Given the description of an element on the screen output the (x, y) to click on. 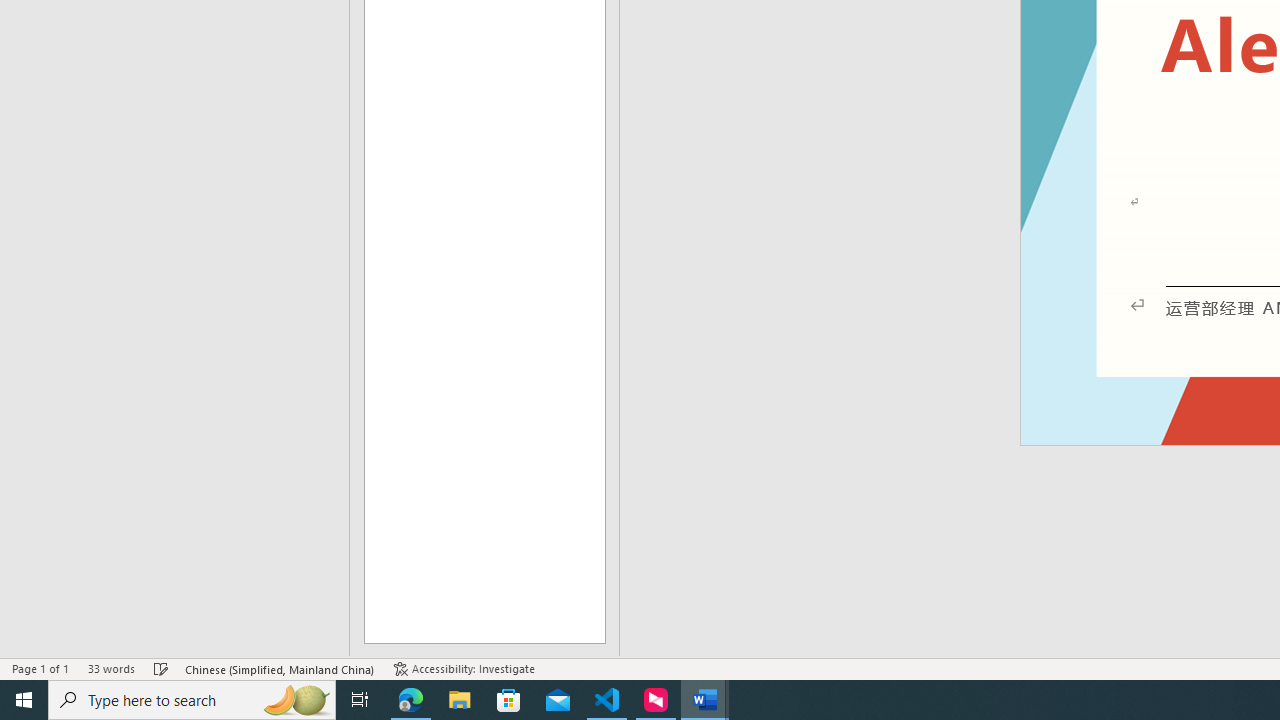
Page Number Page 1 of 1 (39, 668)
Spelling and Grammar Check Checking (161, 668)
